Given the description of an element on the screen output the (x, y) to click on. 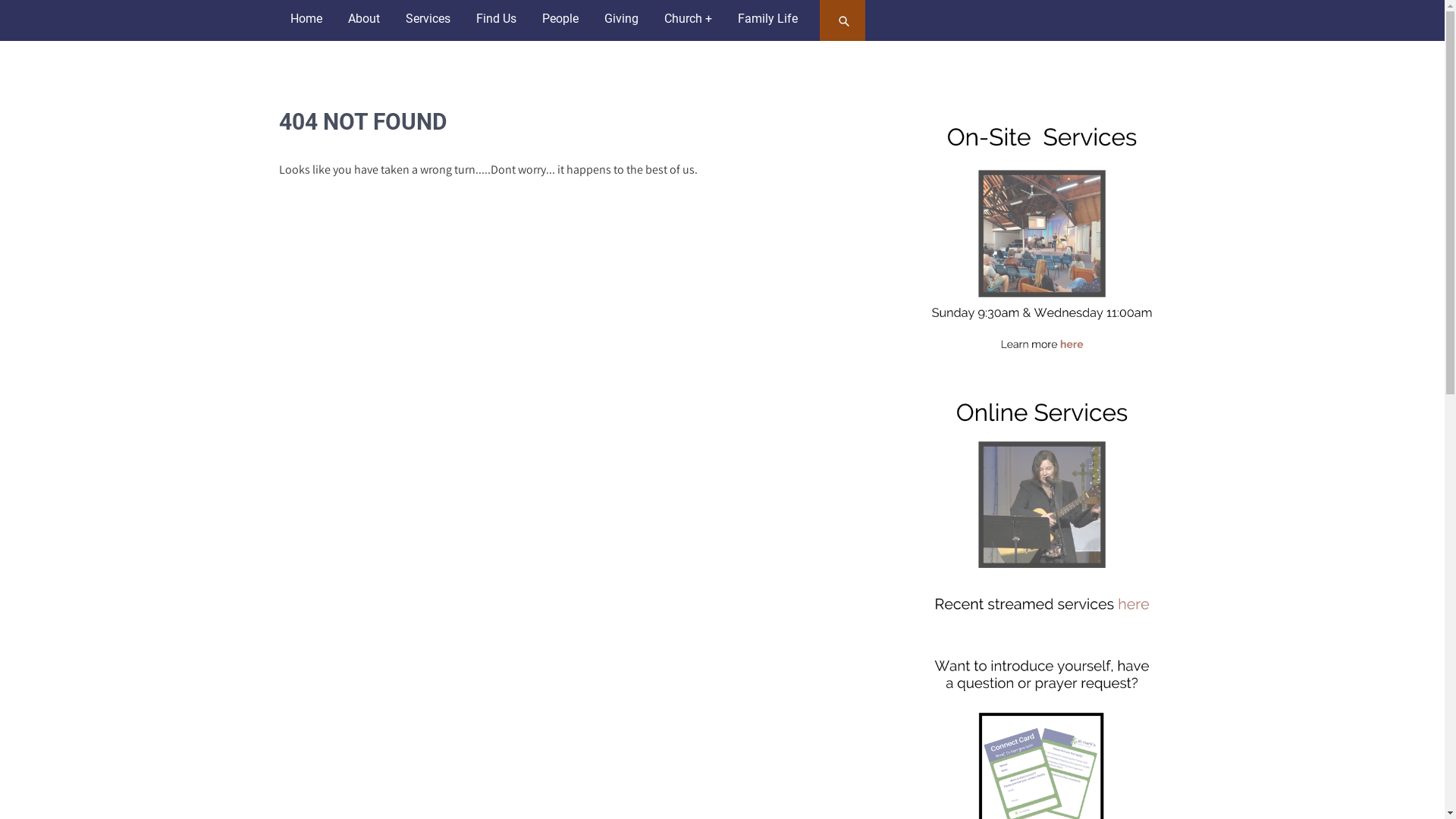
Services Element type: text (427, 18)
About Element type: text (363, 18)
People Element type: text (559, 18)
Church + Element type: text (687, 18)
Find Us Element type: text (495, 18)
Search Element type: text (843, 20)
Giving Element type: text (621, 18)
Home Element type: text (306, 18)
Family Life Element type: text (767, 18)
